Given the description of an element on the screen output the (x, y) to click on. 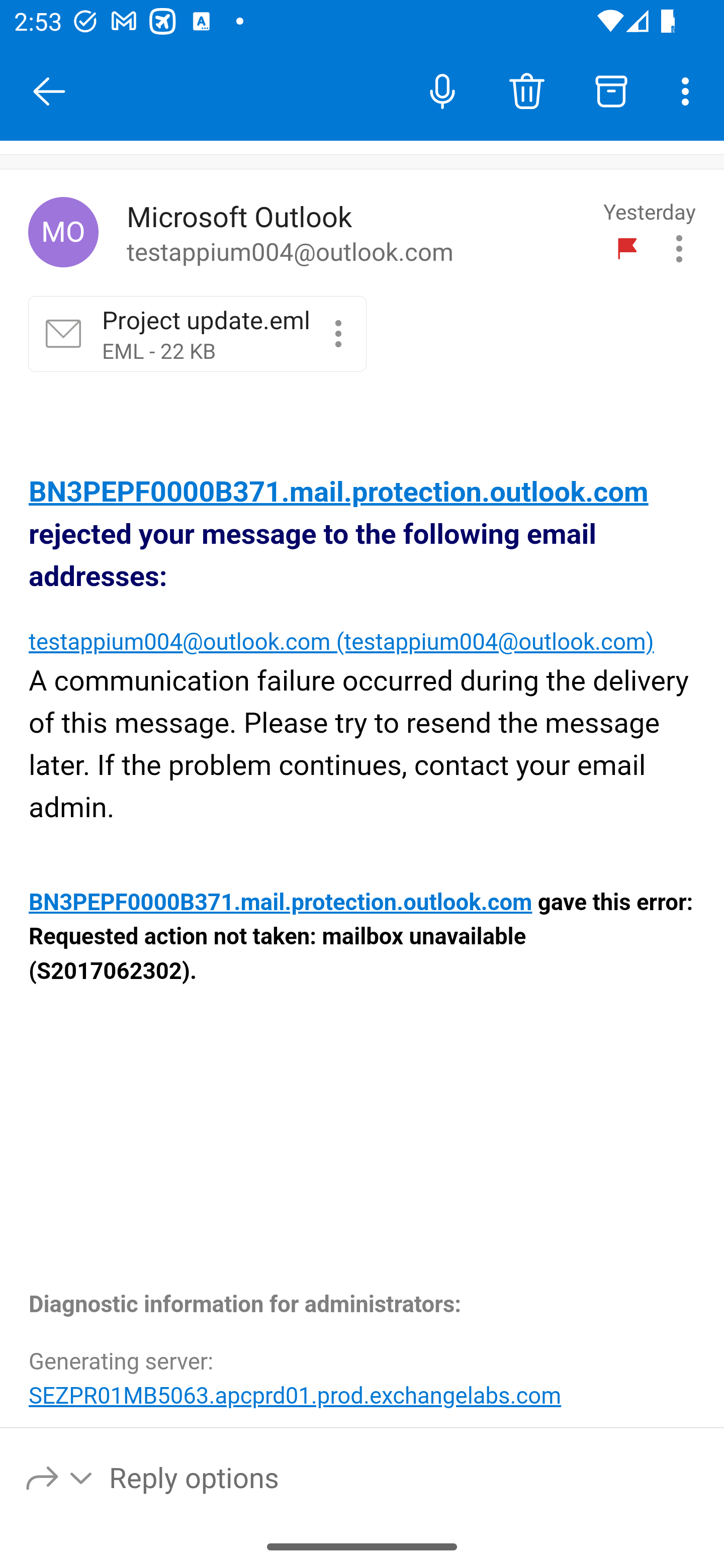
Close (49, 91)
Delete (526, 90)
Archive (611, 90)
More options (688, 90)
Microsoft Outlook
to testappium004@outlook.com (357, 232)
Message actions (679, 248)
Project update.eml (338, 333)
BN3PEPF0000B371.mail.protection.outlook.com (338, 492)
BN3PEPF0000B371.mail.protection.outlook.com (280, 903)
SEZPR01MB5063.apcprd01.prod.exchangelabs.com (294, 1395)
Reply options (59, 1476)
